Given the description of an element on the screen output the (x, y) to click on. 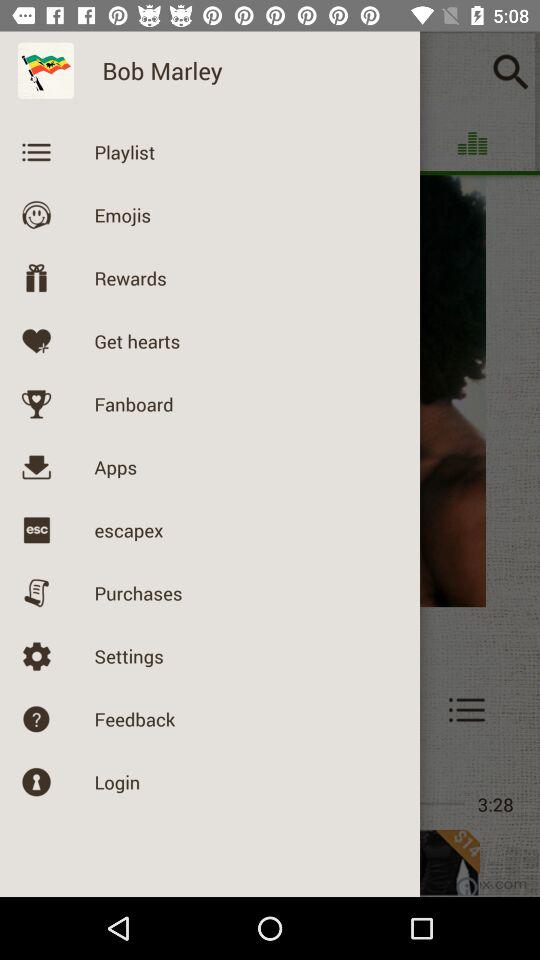
select the icon below the search bar (472, 143)
select the menu icon on the right beside feedback button (467, 709)
go to the feedback button (74, 709)
